Given the description of an element on the screen output the (x, y) to click on. 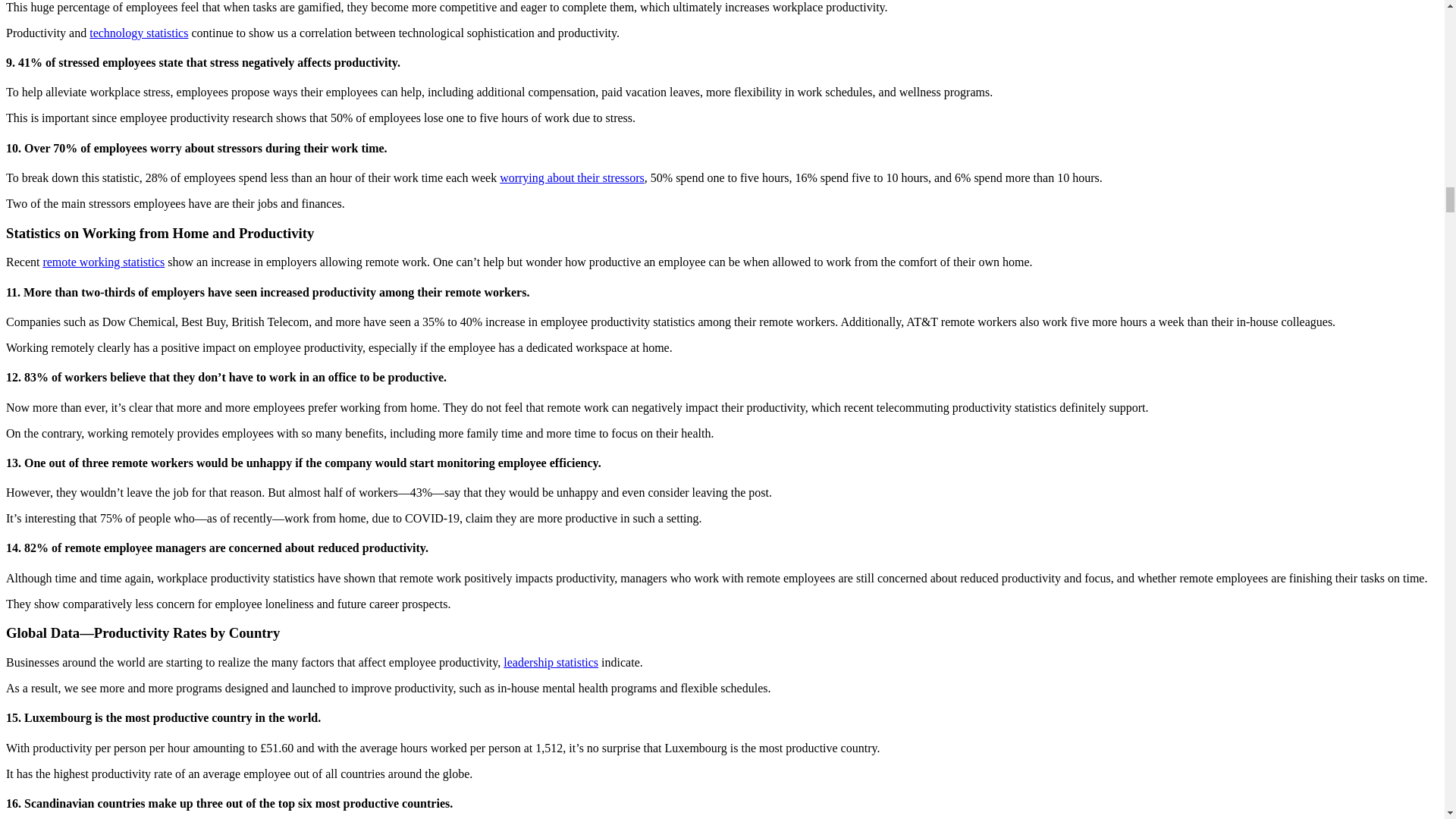
remote working statistics (103, 261)
technology statistics (137, 32)
worrying about their stressors (572, 177)
leadership statistics (550, 662)
